Given the description of an element on the screen output the (x, y) to click on. 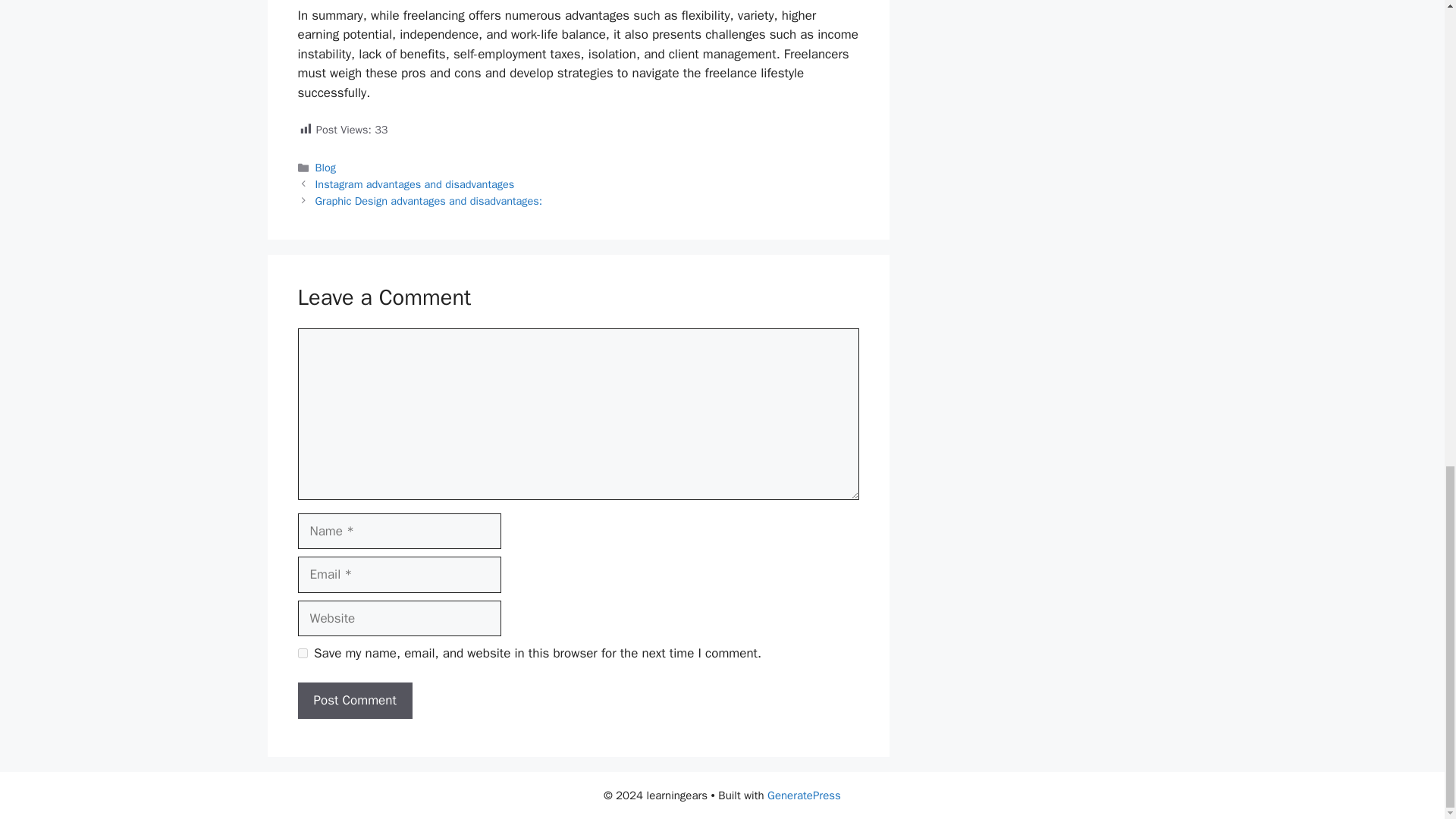
GeneratePress (804, 795)
Graphic Design advantages and disadvantages: (429, 201)
Post Comment (354, 700)
Post Comment (354, 700)
yes (302, 653)
Instagram advantages and disadvantages (415, 183)
Blog (325, 167)
